Given the description of an element on the screen output the (x, y) to click on. 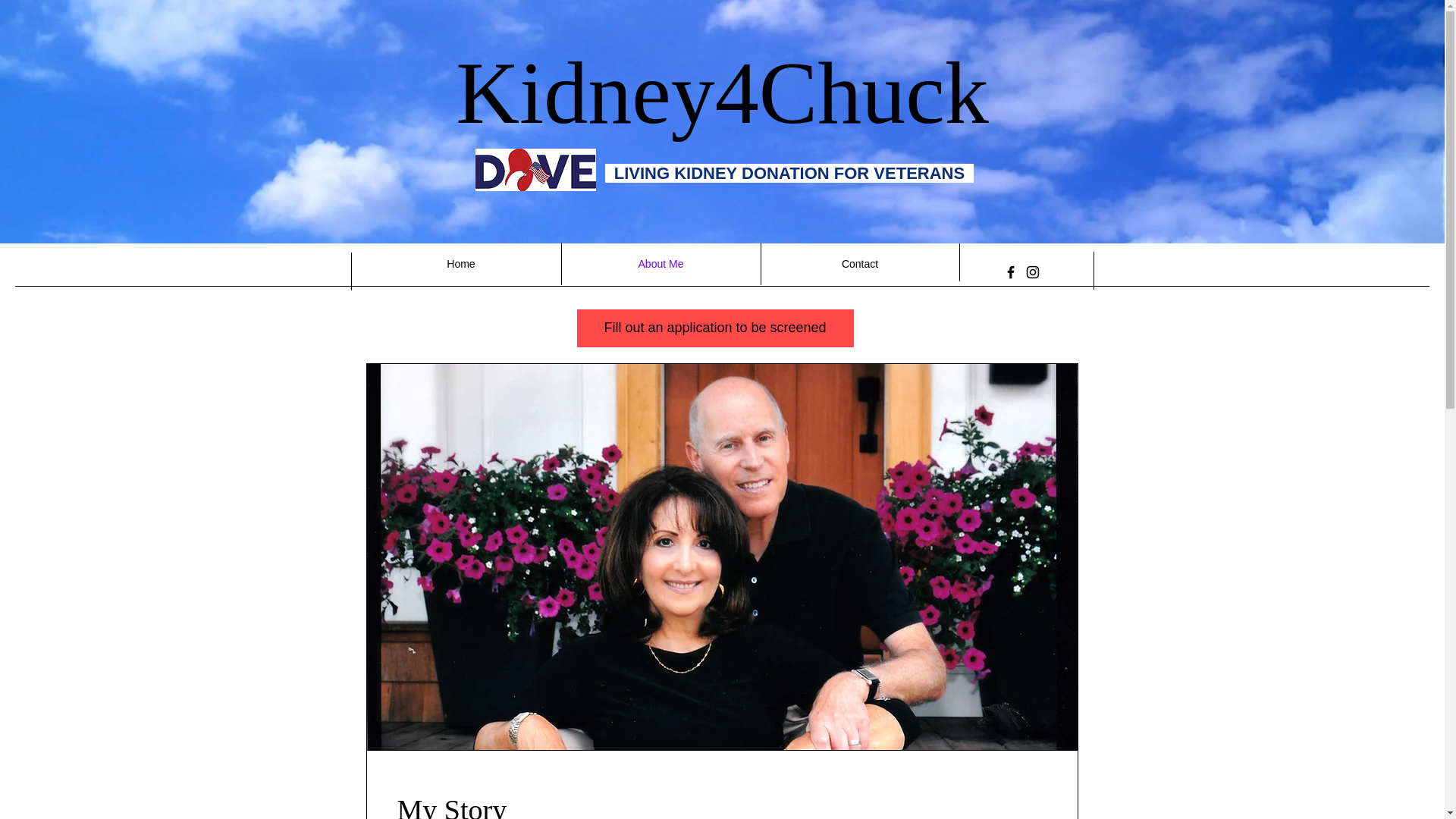
Contact (859, 263)
Kidney4Chuck (721, 93)
Fill out an application to be screened (714, 328)
About Me (660, 263)
Home (460, 263)
